Given the description of an element on the screen output the (x, y) to click on. 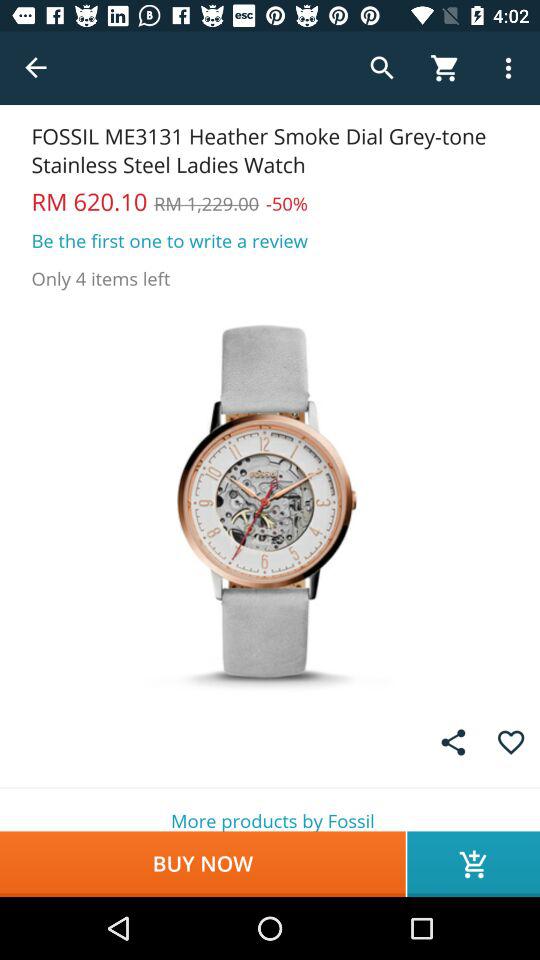
tap the item next to the buy now (473, 863)
